Given the description of an element on the screen output the (x, y) to click on. 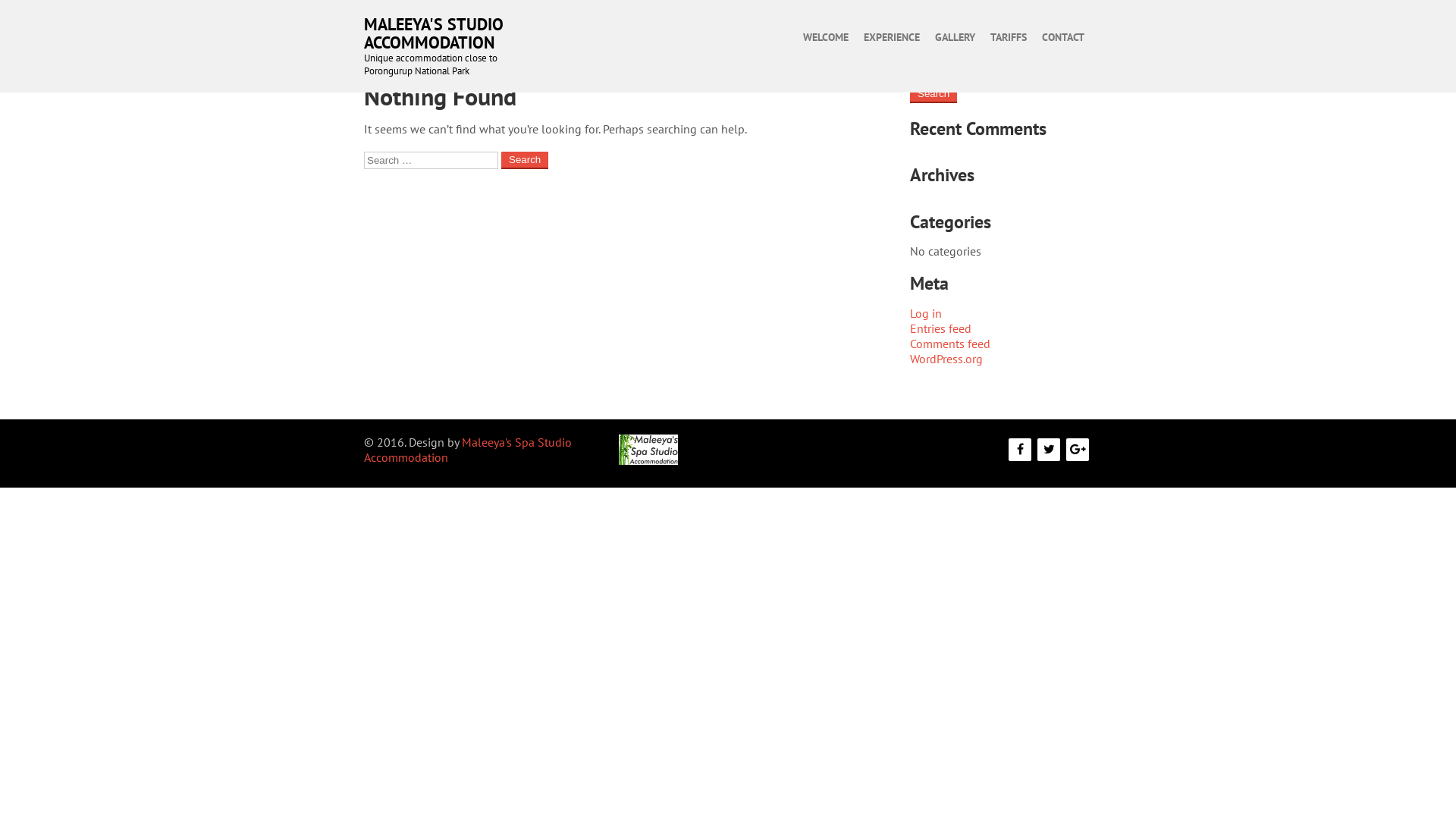
google-plus Element type: hover (1077, 449)
twitter Element type: hover (1048, 449)
Maleeya's Spa Studio Accommodation Element type: text (467, 449)
CONTACT Element type: text (1063, 36)
WELCOME Element type: text (825, 36)
WordPress.org Element type: text (946, 358)
Entries feed Element type: text (940, 327)
facebook Element type: hover (1019, 449)
Search Element type: text (524, 160)
TARIFFS Element type: text (1008, 36)
GALLERY Element type: text (954, 36)
Search Element type: text (933, 94)
EXPERIENCE Element type: text (891, 36)
Comments feed Element type: text (950, 343)
Log in Element type: text (925, 312)
